Given the description of an element on the screen output the (x, y) to click on. 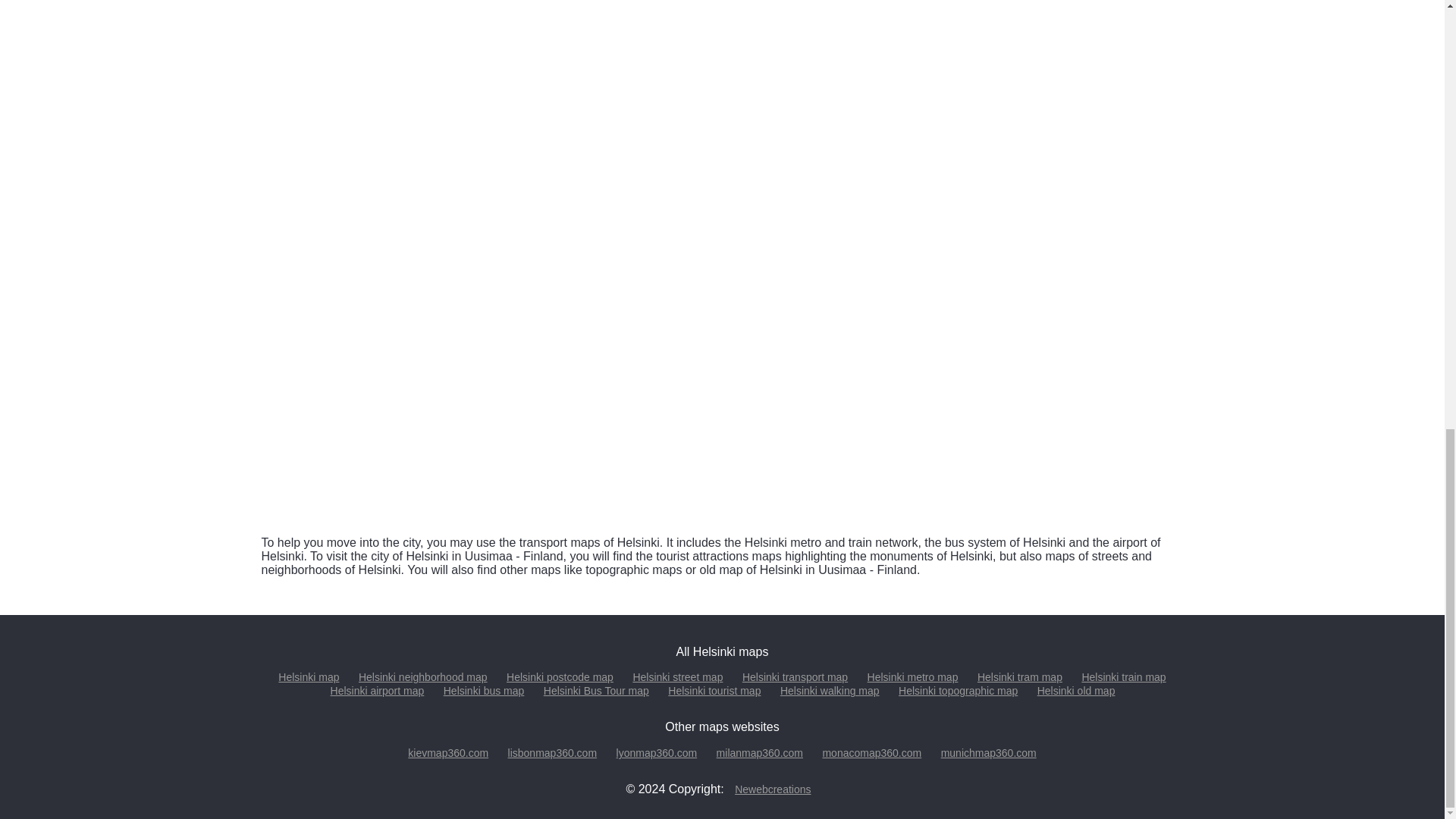
Helsinki railways stations map (720, 83)
Maps of Helsinki city (308, 676)
Helsinki tram stations map (413, 83)
Helsinki sightseeing map (1029, 259)
Helsinki airport terminal map (1029, 83)
Helsinki buses routes map (413, 259)
Helsinki historical map (1029, 435)
Helsinki elevation map (720, 435)
Helsinki tourist bus map (720, 259)
Helsinki walking tours map (413, 435)
